Given the description of an element on the screen output the (x, y) to click on. 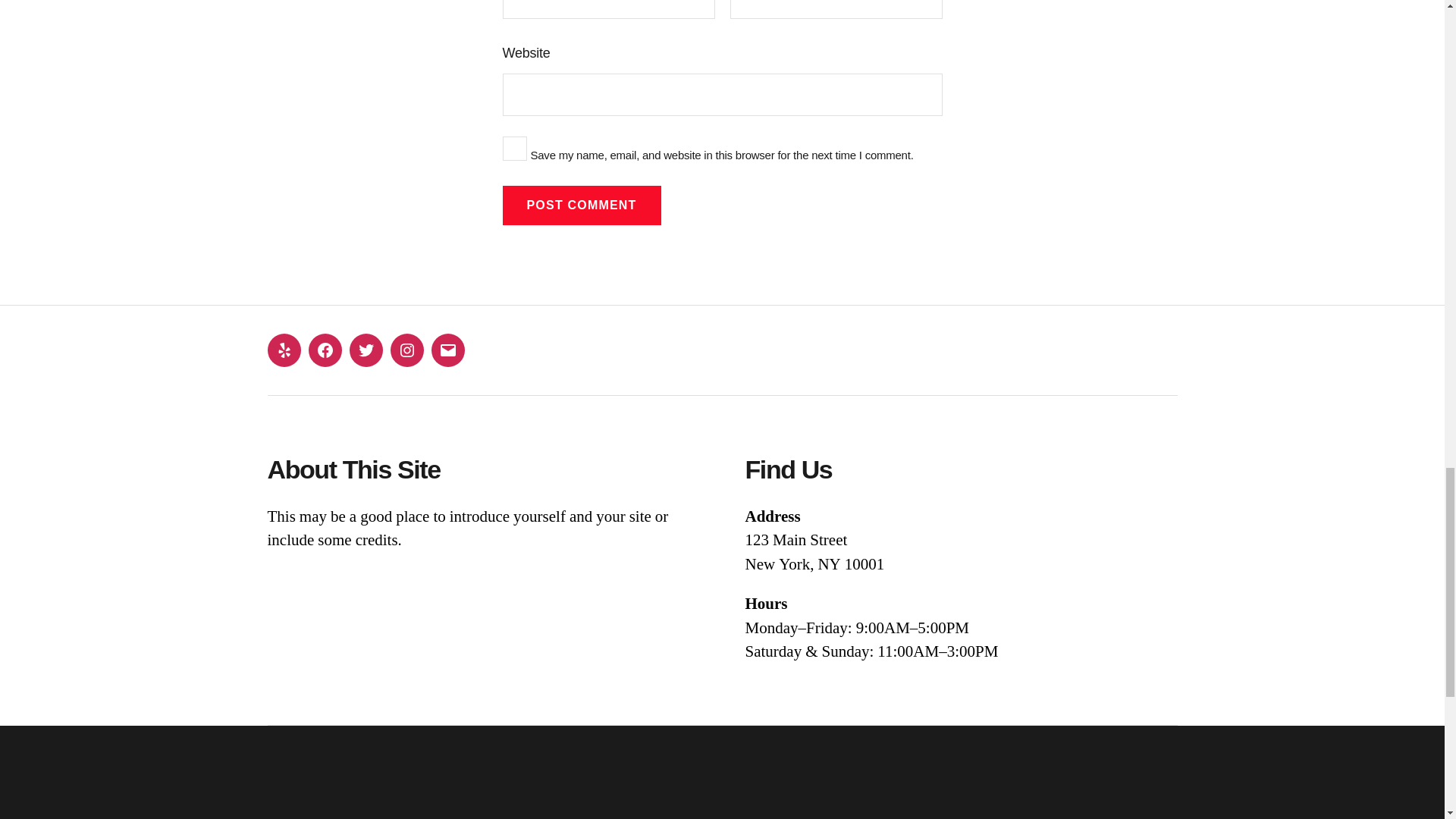
Post Comment (581, 205)
Post Comment (581, 205)
yes (513, 148)
